Given the description of an element on the screen output the (x, y) to click on. 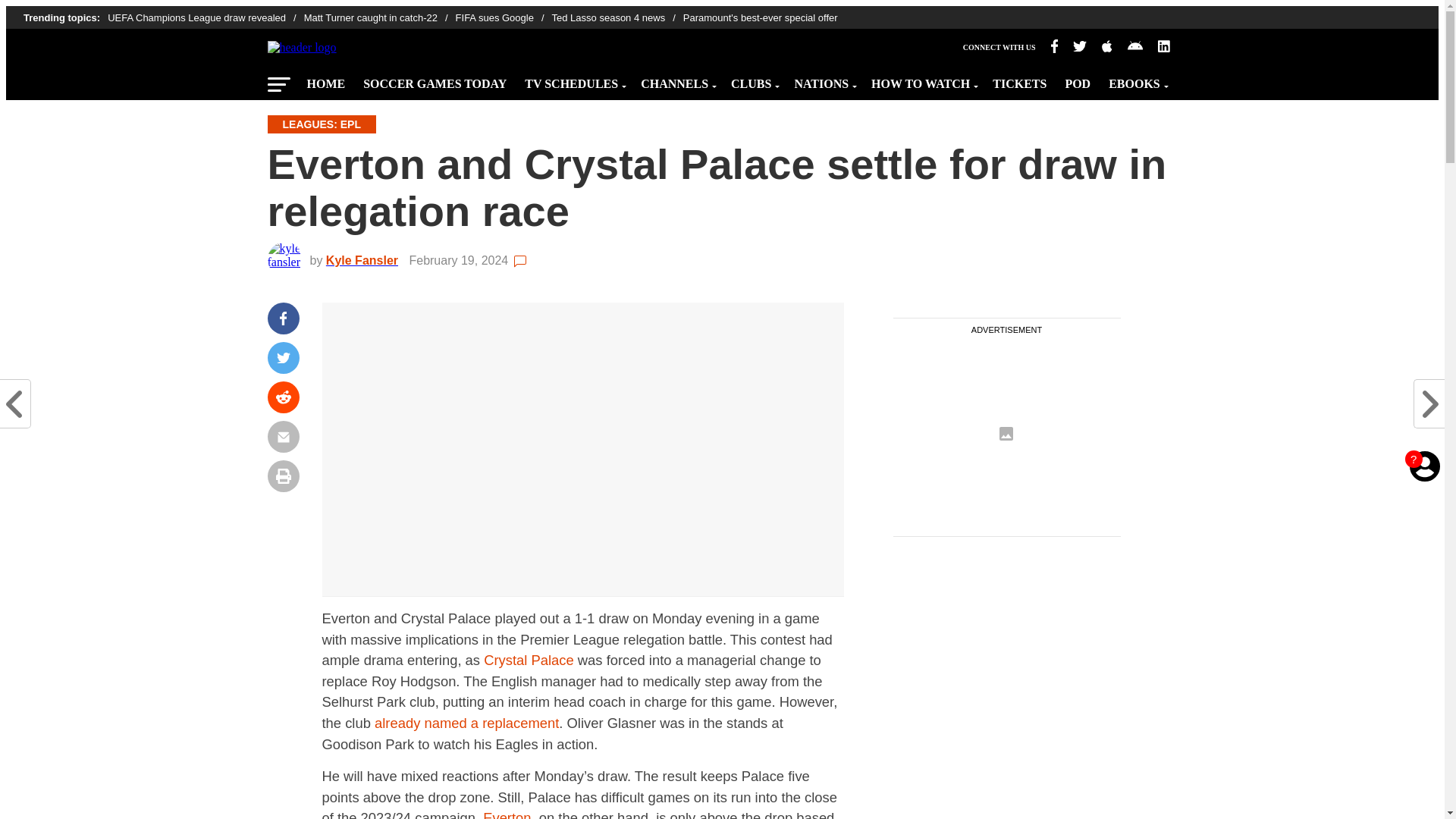
Kyle Fansler (366, 259)
TV SCHEDULES (573, 80)
HOME (325, 80)
POD (1077, 80)
CHANNELS (676, 80)
CLUBS (753, 80)
Crystal Palace (528, 659)
Ted Lasso season 4 news (616, 17)
Paramount's best-ever special offer (760, 17)
FIFA sues Google (503, 17)
